Given the description of an element on the screen output the (x, y) to click on. 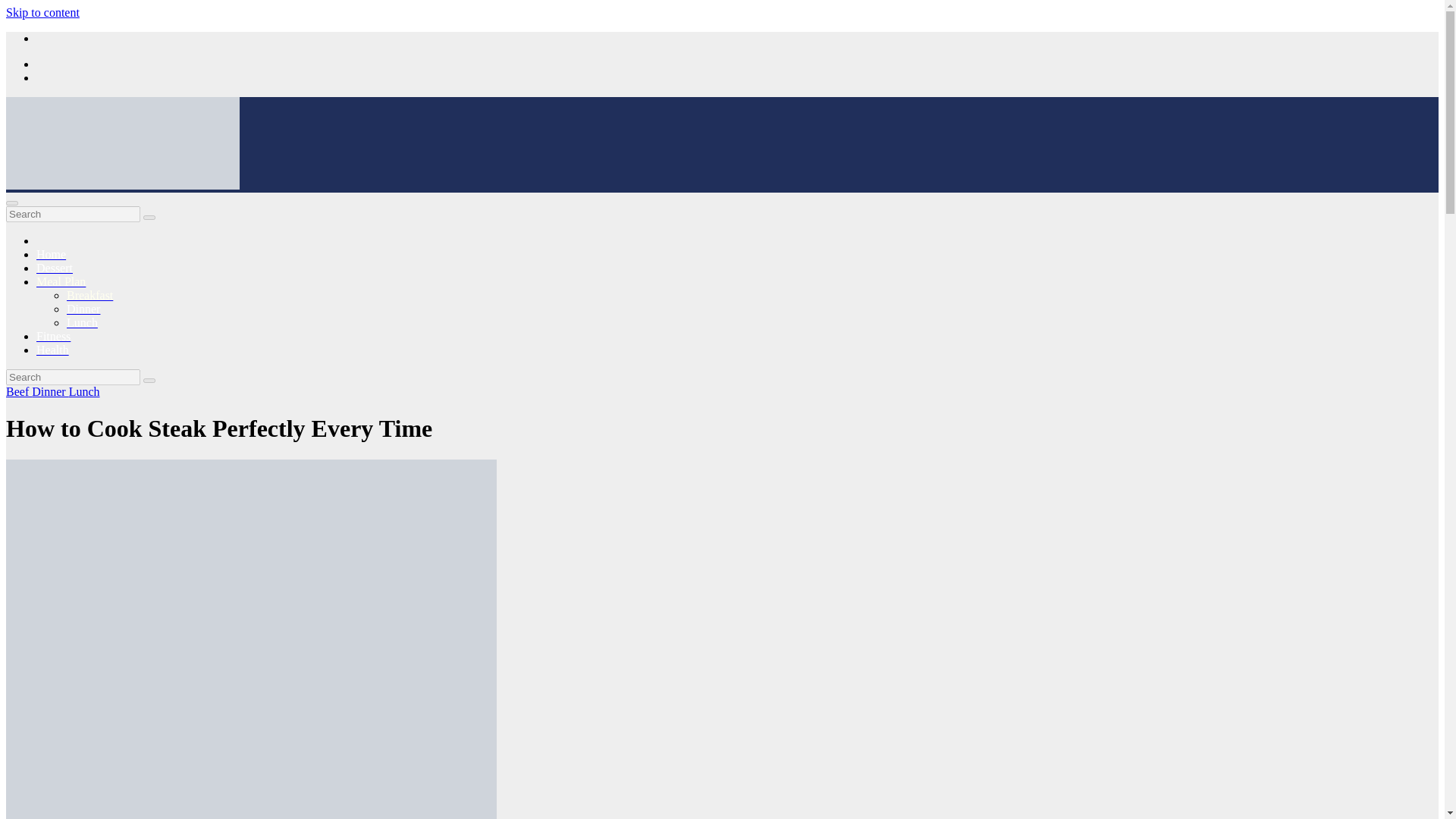
Lunch (81, 322)
Health (52, 349)
Fitness (52, 336)
Meal Plan (60, 281)
Beef (18, 391)
Permalink to: How to Cook Steak Perfectly Every Time (218, 428)
Dinner (83, 308)
How to Cook Steak Perfectly Every Time (218, 428)
Breakfast (89, 295)
Dessert (54, 267)
Lunch (84, 391)
Tasting Treasures (47, 210)
Skip to content (42, 11)
Home (50, 254)
Dinner (50, 391)
